Given the description of an element on the screen output the (x, y) to click on. 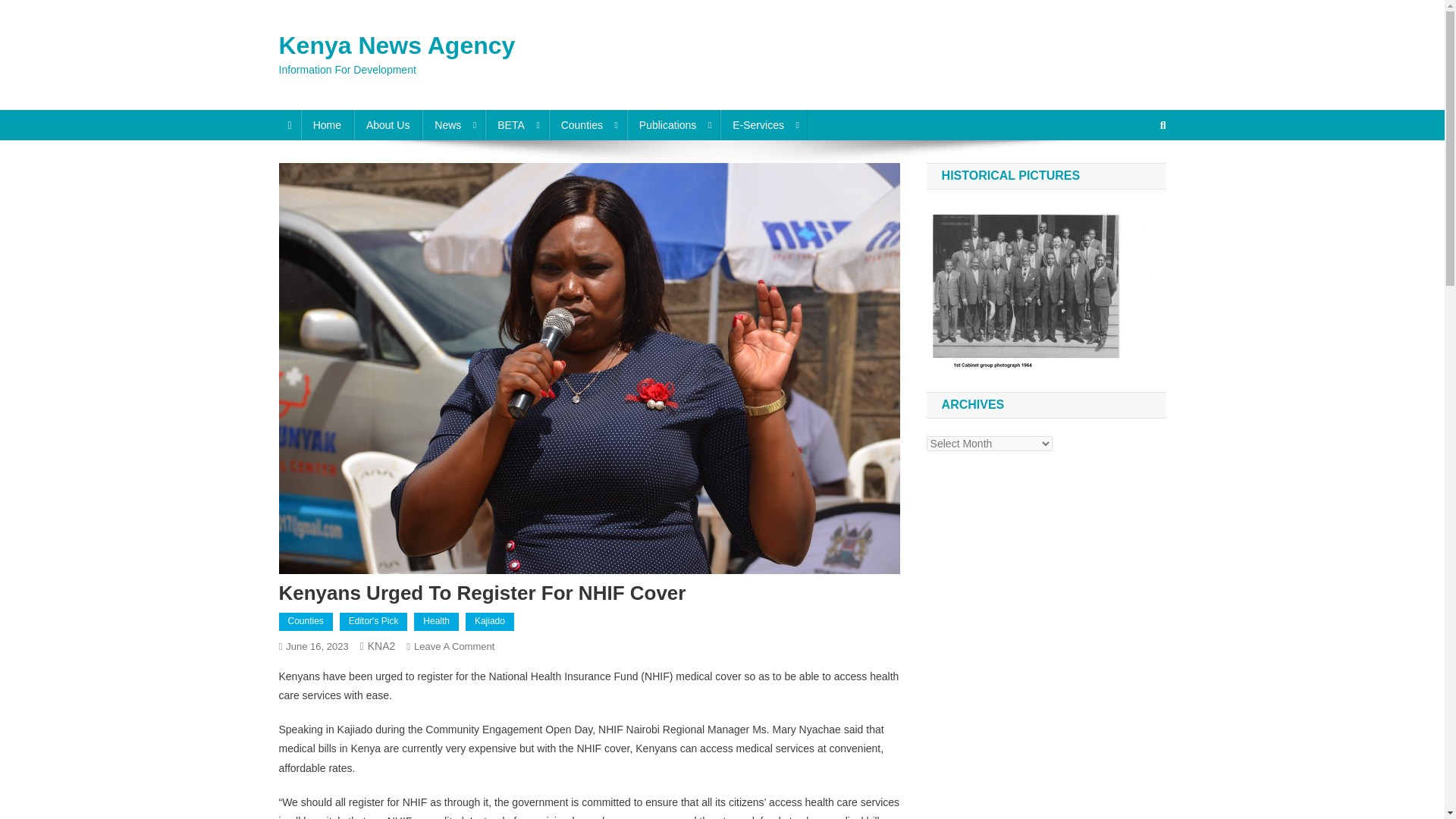
BETA (516, 124)
News (453, 124)
About Us (387, 124)
Counties (587, 124)
Kenya News Agency (397, 44)
Home (327, 124)
